Given the description of an element on the screen output the (x, y) to click on. 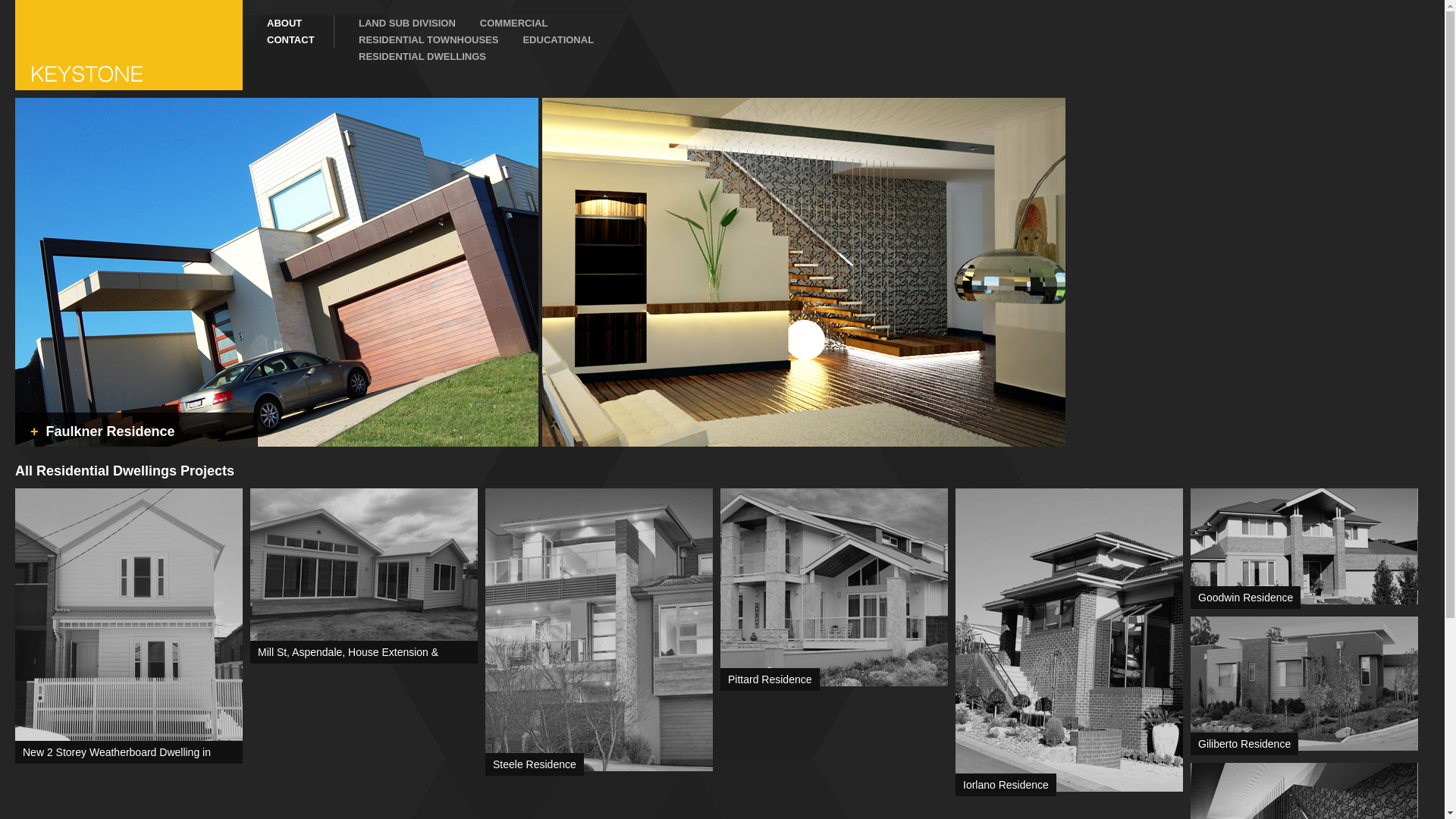
Pittard Residence Element type: text (769, 679)
Steele Residence Element type: text (534, 764)
CONTACT Element type: text (287, 39)
Mill St, Aspendale, House Extension & Renovation Element type: text (363, 651)
COMMERCIAL Element type: text (501, 23)
Iorlano Residence Element type: text (1005, 784)
Giliberto Residence Element type: text (1244, 743)
RESIDENTIAL TOWNHOUSES Element type: text (416, 39)
EDUCATIONAL Element type: text (545, 39)
Goodwin Residence Element type: text (1245, 597)
RESIDENTIAL DWELLINGS Element type: text (410, 56)
New 2 Storey Weatherboard Dwelling in Balaclava Element type: text (128, 751)
LAND SUB DIVISION Element type: text (394, 23)
ABOUT Element type: text (287, 23)
